Given the description of an element on the screen output the (x, y) to click on. 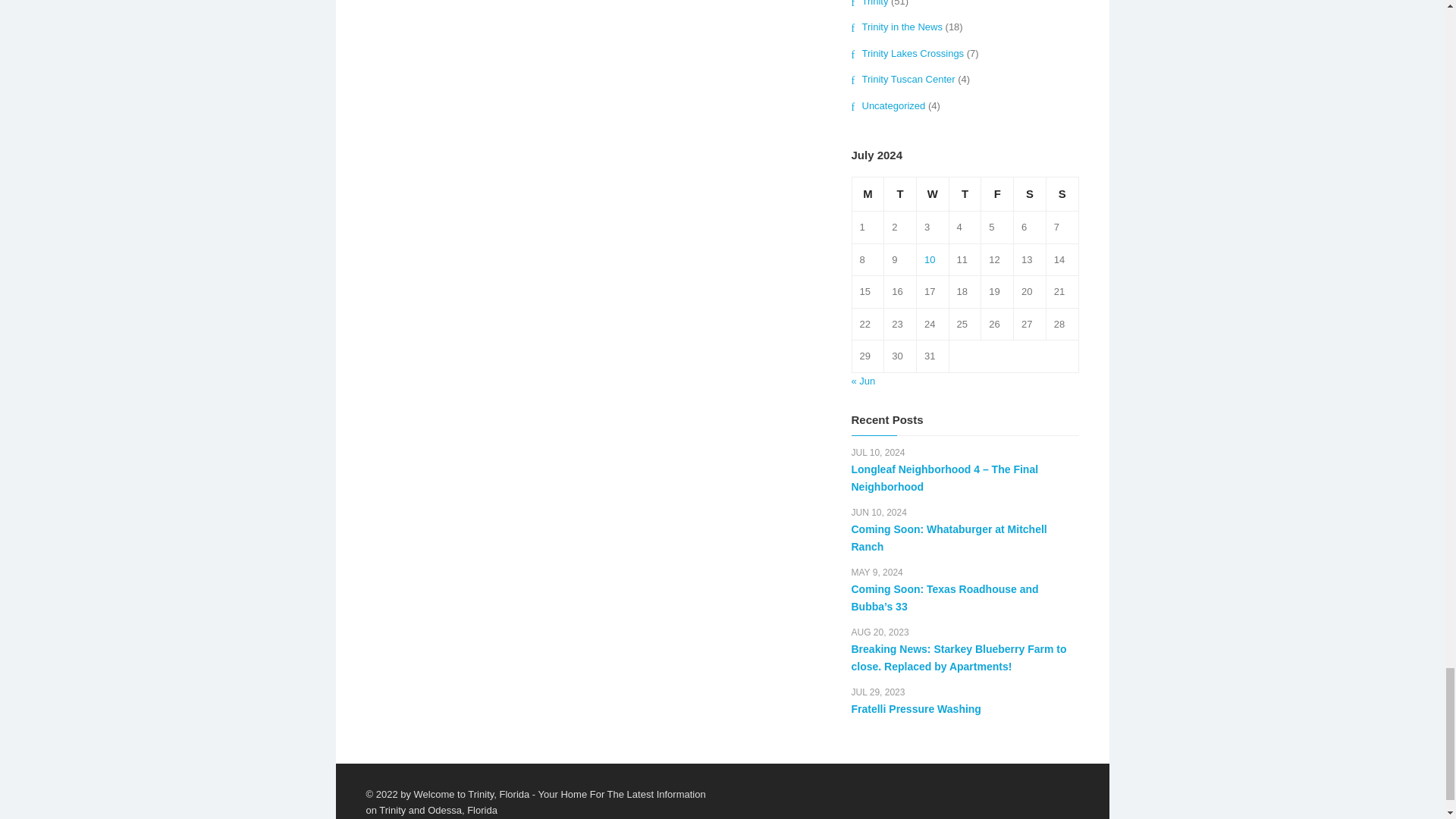
Thursday (965, 193)
Tuesday (900, 193)
Saturday (1029, 193)
Friday (997, 193)
Monday (867, 193)
Wednesday (932, 193)
